Given the description of an element on the screen output the (x, y) to click on. 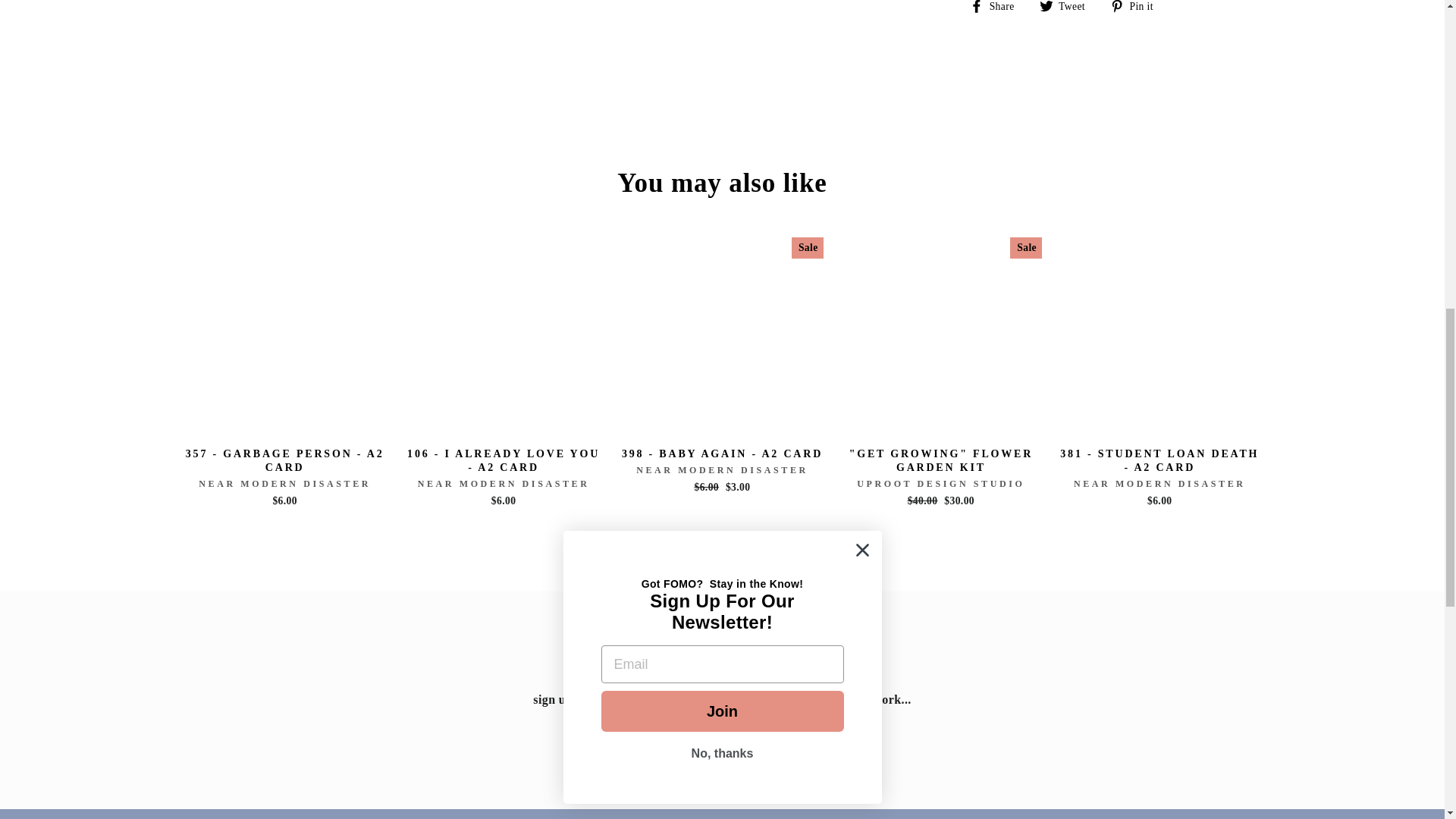
Share on Facebook (997, 6)
Pin on Pinterest (1136, 6)
Tweet on Twitter (1067, 6)
